Given the description of an element on the screen output the (x, y) to click on. 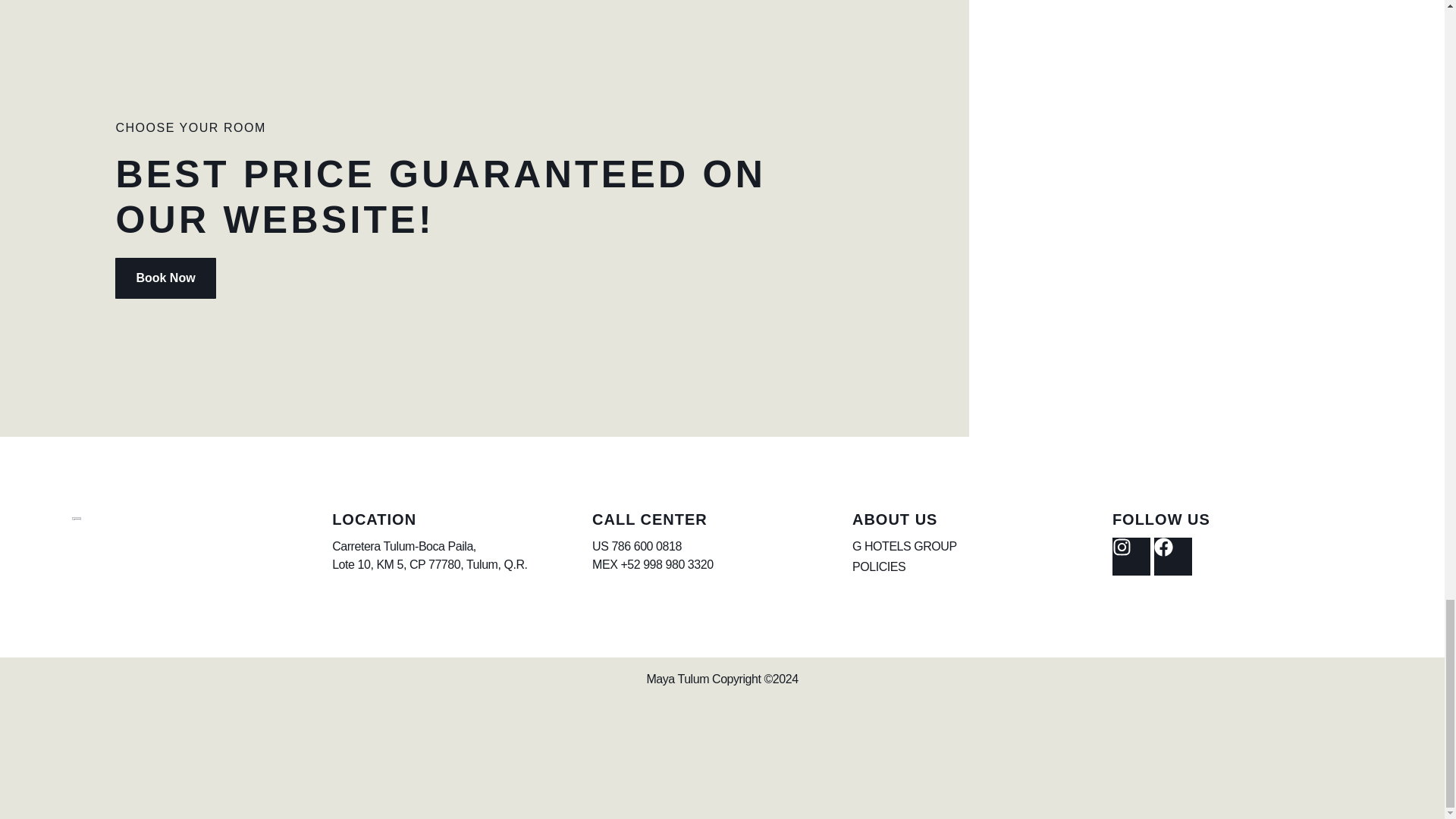
POLICIES (981, 566)
G HOTELS GROUP (981, 546)
Book Now (165, 277)
